Given the description of an element on the screen output the (x, y) to click on. 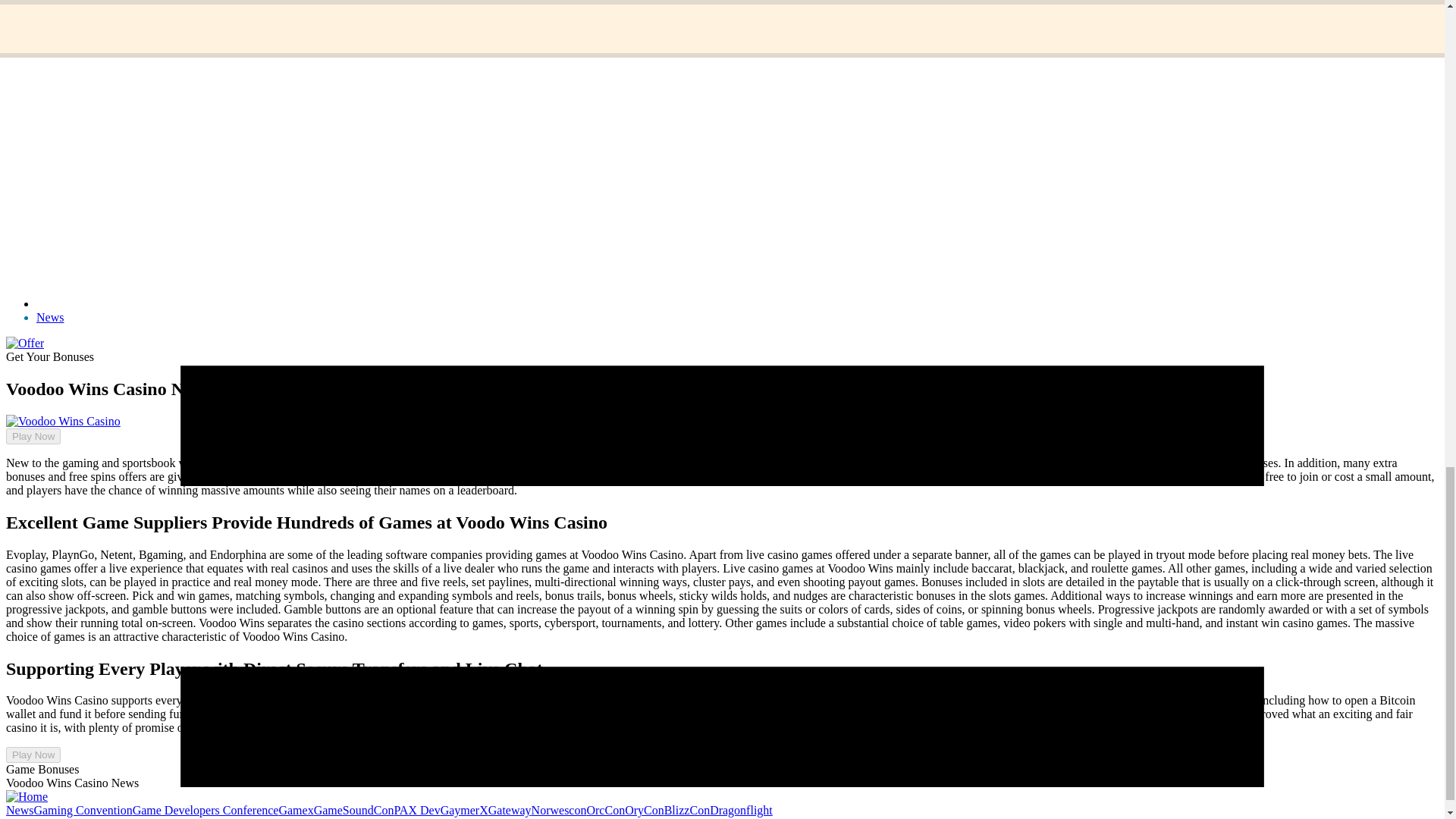
OryCon (643, 809)
News (19, 809)
News (50, 317)
GameSoundCon (354, 809)
Play Now (33, 436)
Play Now (33, 754)
Game Developers Conference (205, 809)
Norwescon (558, 809)
PAX Dev (416, 809)
Gaming Convention (82, 809)
Gateway (509, 809)
OrcCon (605, 809)
GaymerX (464, 809)
Gamex (295, 809)
Dragonflight (741, 809)
